Given the description of an element on the screen output the (x, y) to click on. 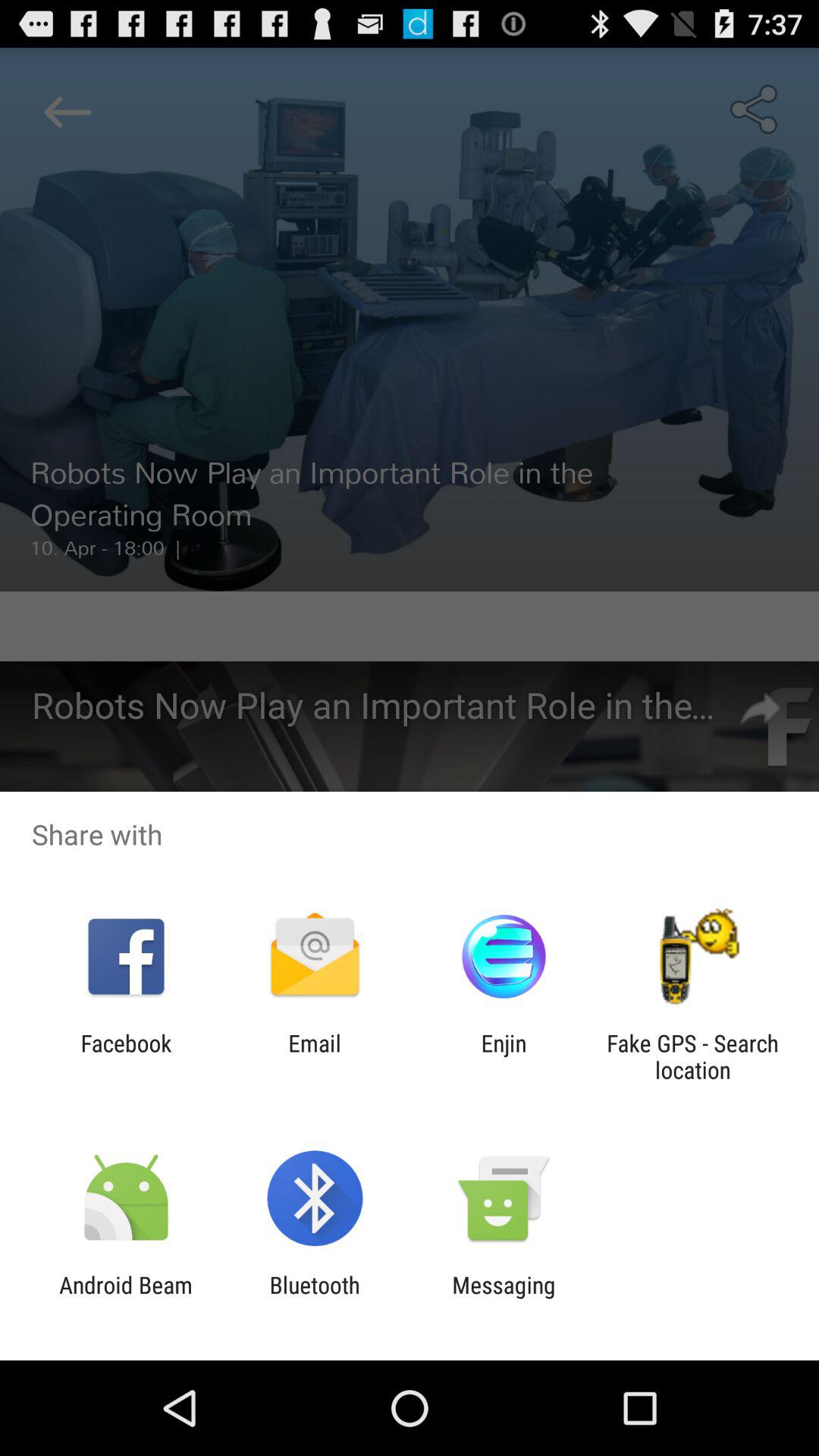
turn off the item next to bluetooth app (503, 1298)
